Given the description of an element on the screen output the (x, y) to click on. 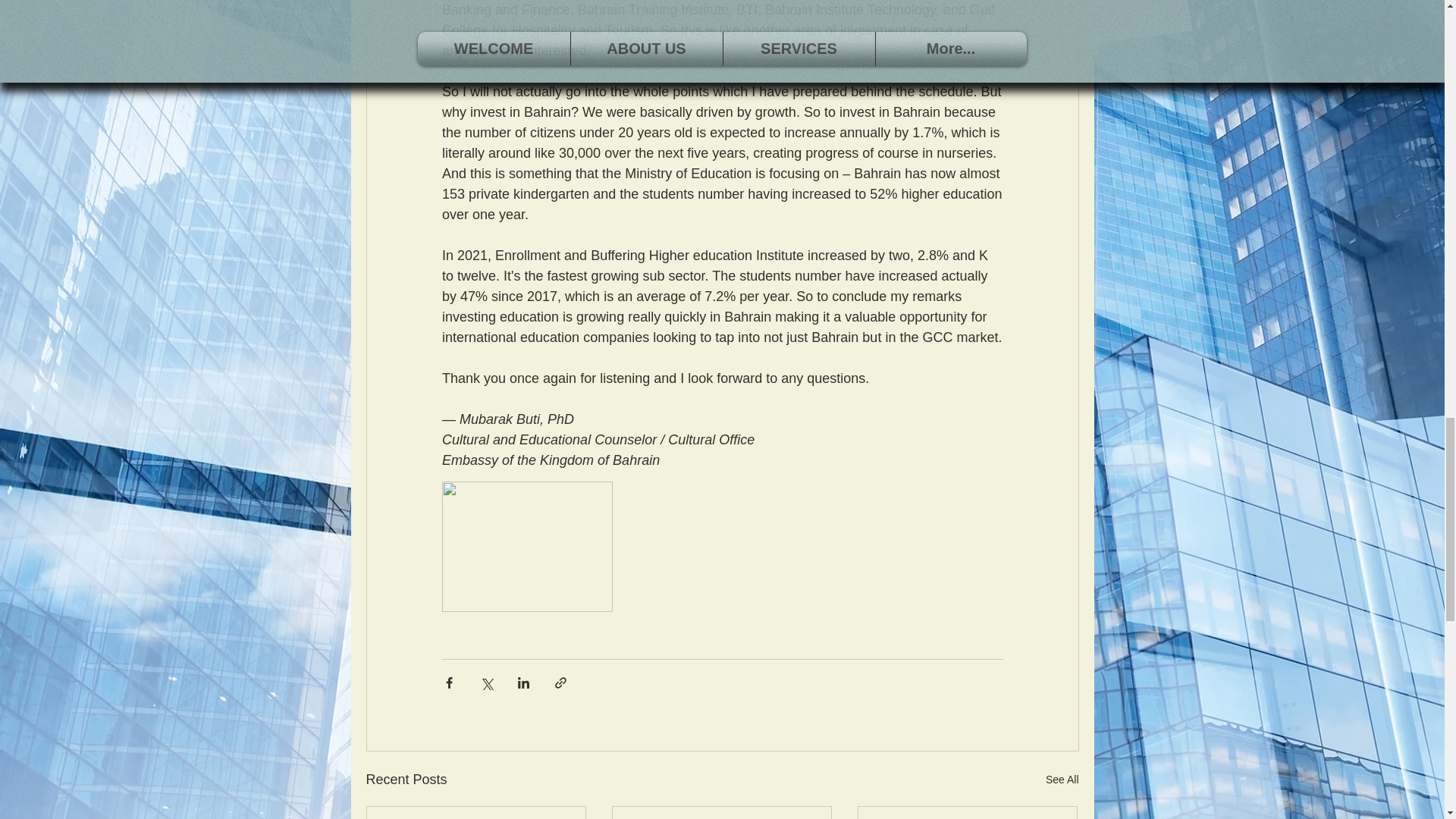
See All (1061, 780)
